Given the description of an element on the screen output the (x, y) to click on. 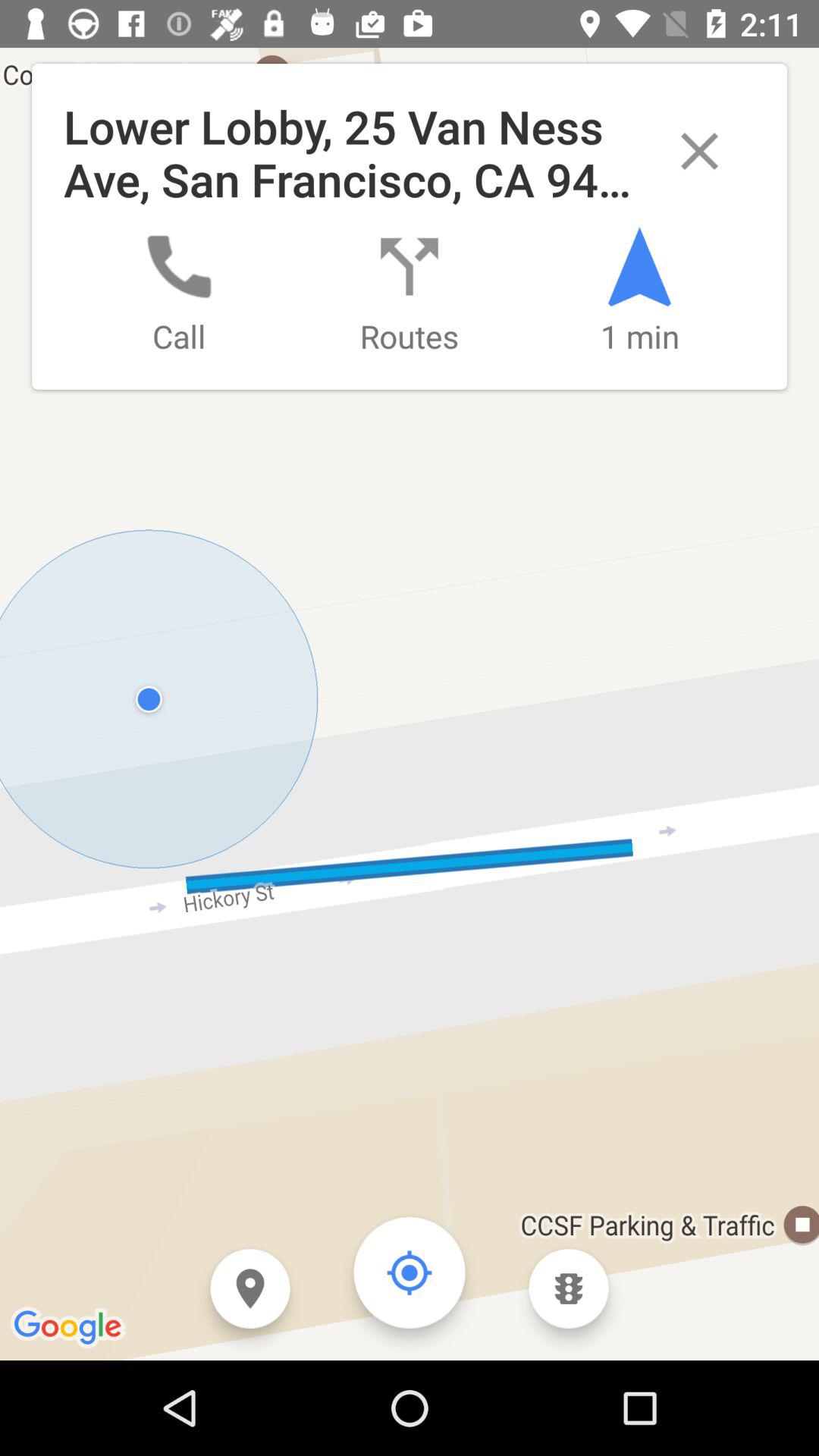
close box (699, 151)
